Given the description of an element on the screen output the (x, y) to click on. 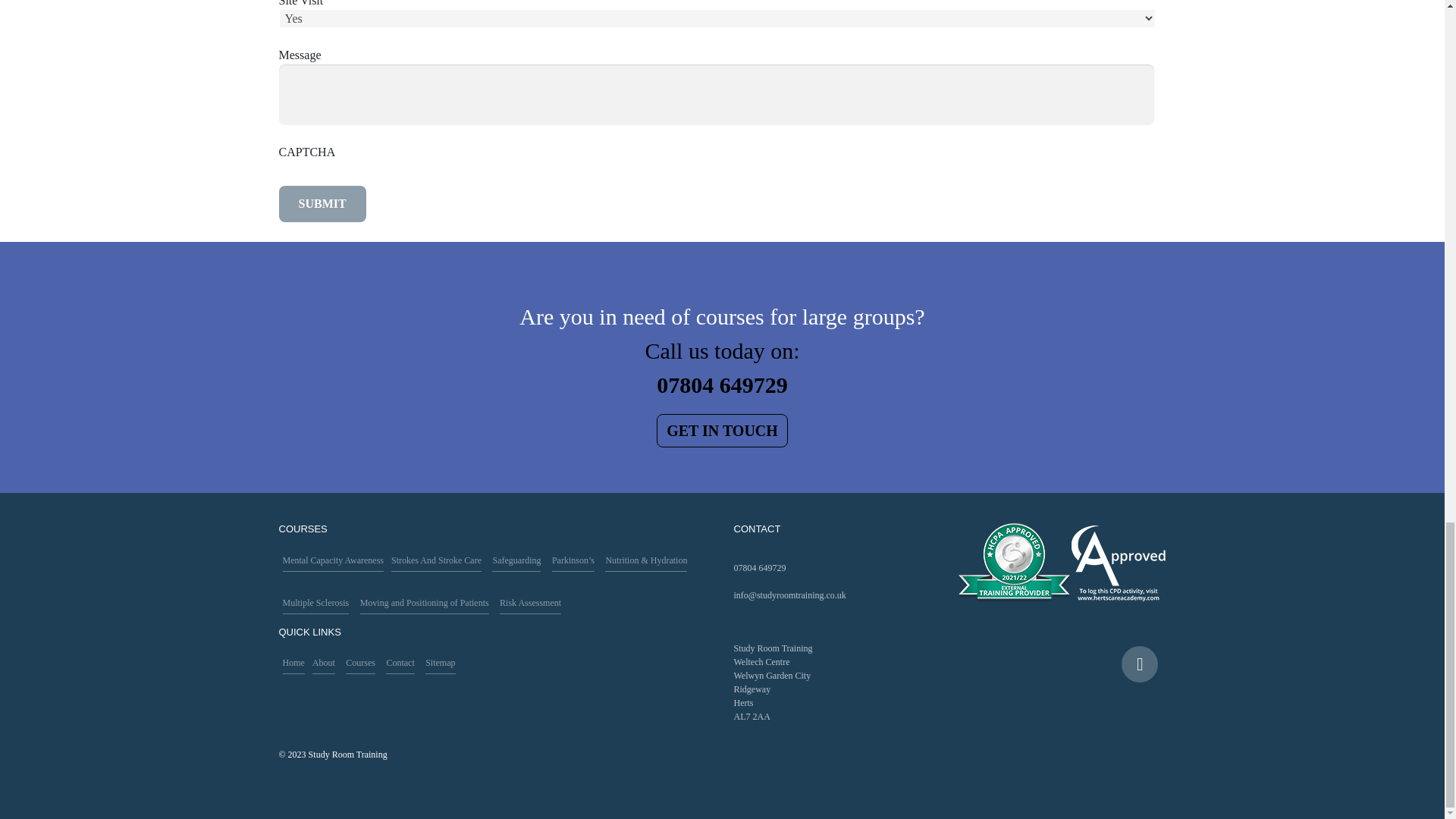
Submit (322, 203)
